Given the description of an element on the screen output the (x, y) to click on. 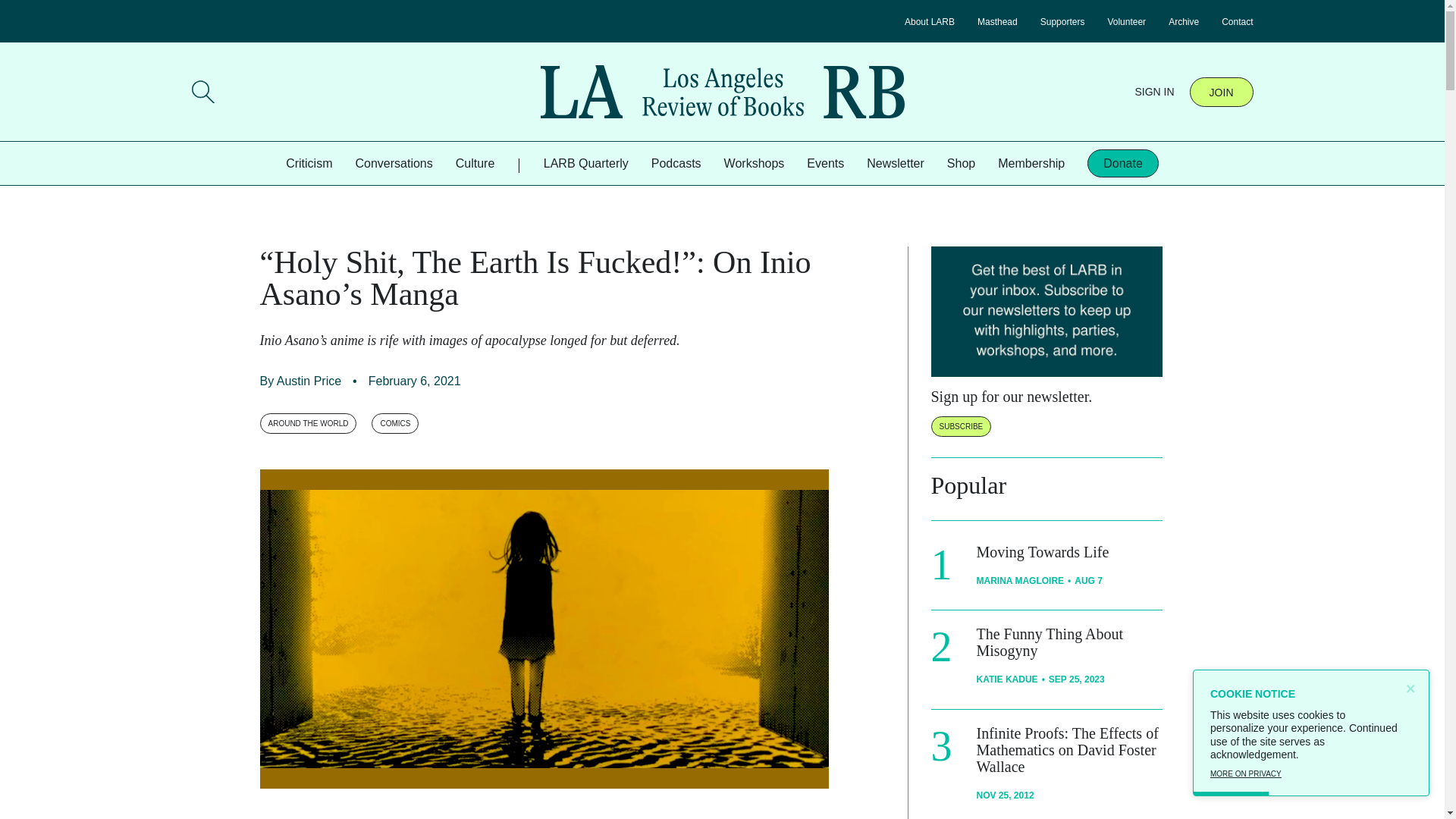
Criticism (308, 163)
Culture (475, 163)
AROUND THE WORLD (307, 423)
Supporters (1062, 21)
Conversations (393, 163)
Newsletter (895, 163)
Shop (961, 163)
Volunteer (1125, 21)
Membership (1030, 163)
Donate (1122, 163)
